Given the description of an element on the screen output the (x, y) to click on. 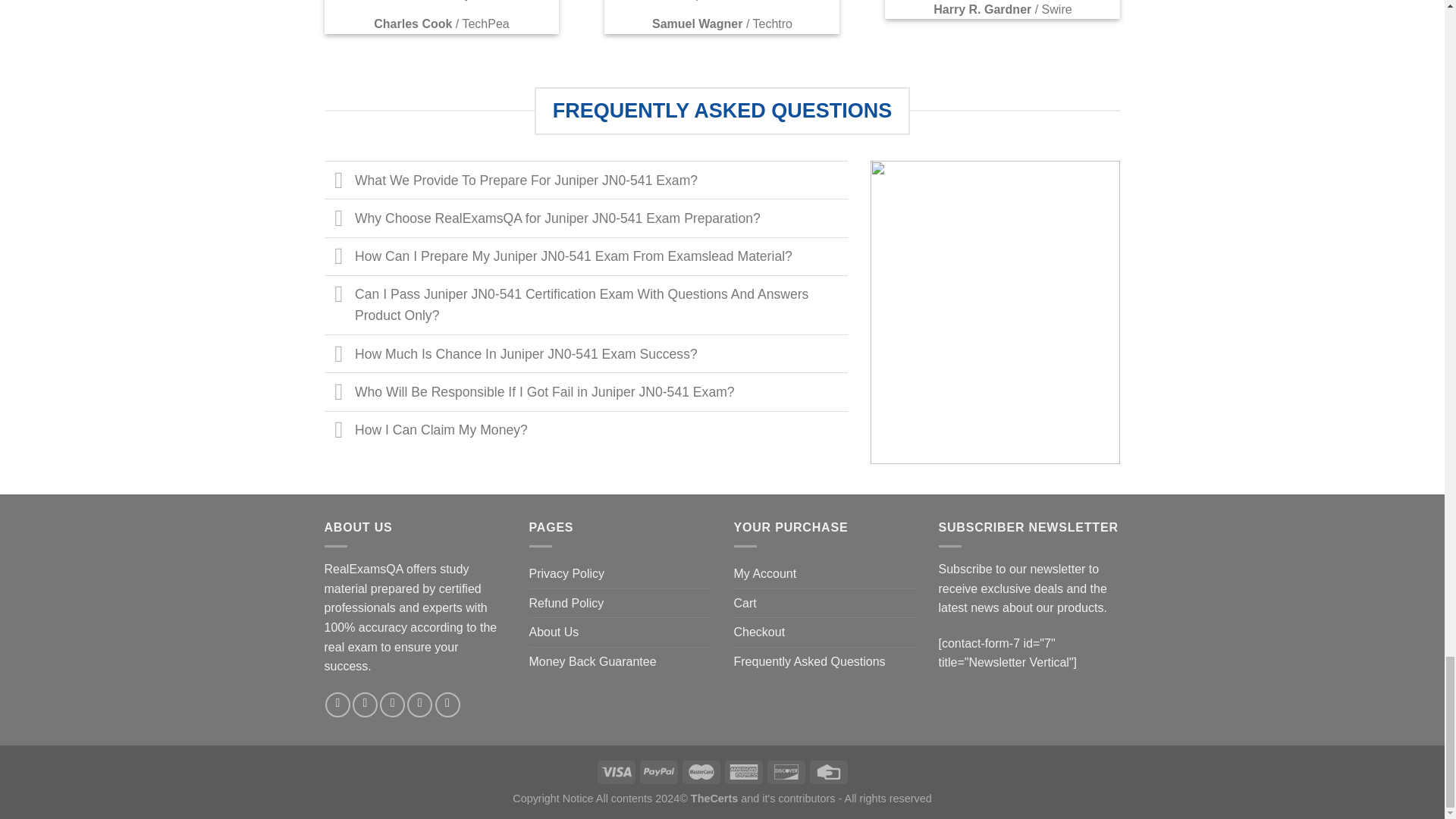
Follow on Instagram (364, 704)
Follow on Pinterest (447, 704)
Follow on Facebook (337, 704)
Follow on Twitter (392, 704)
Send us an email (419, 704)
